Given the description of an element on the screen output the (x, y) to click on. 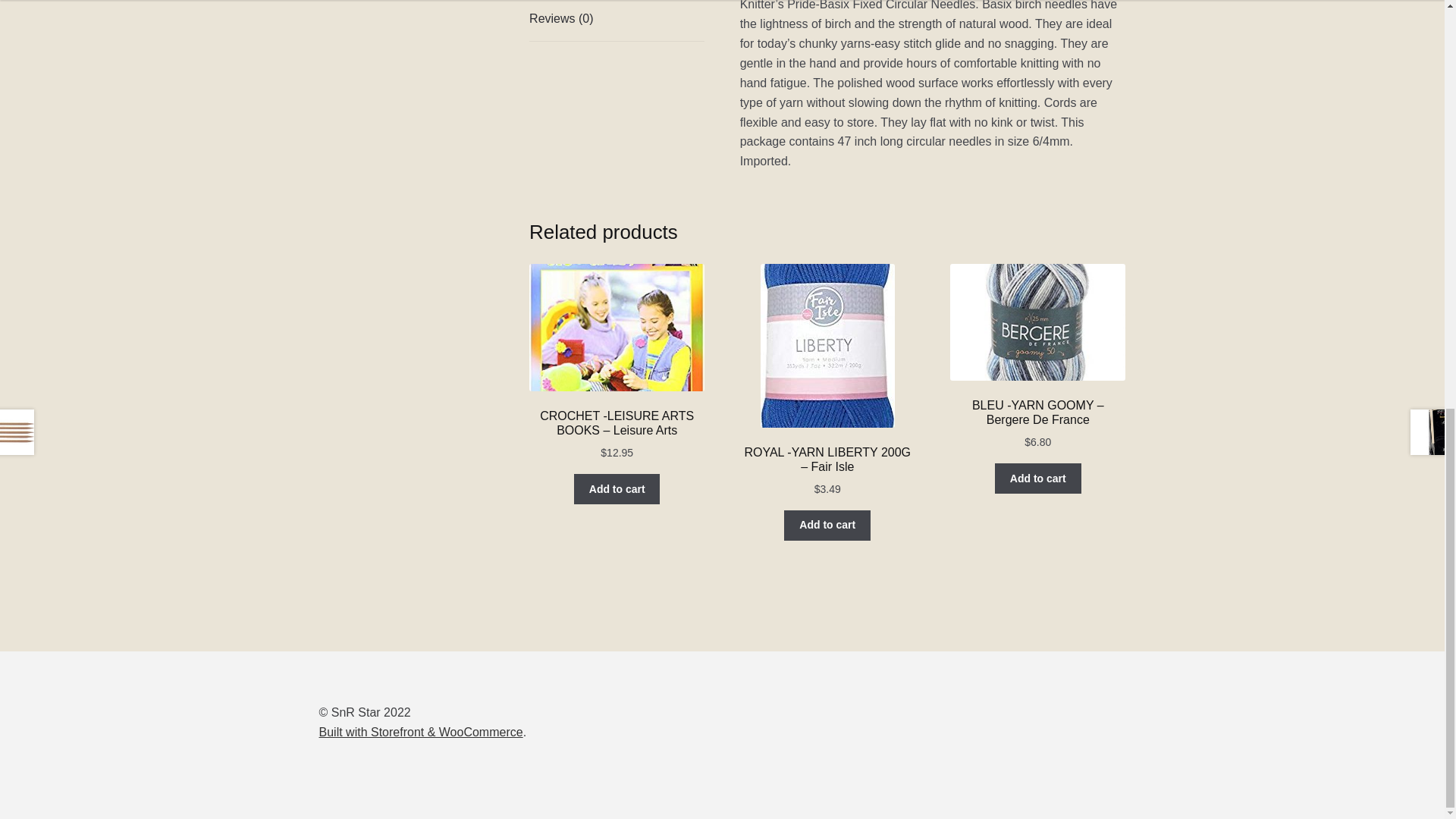
WooCommerce - The Best eCommerce Platform for WordPress (420, 731)
